Given the description of an element on the screen output the (x, y) to click on. 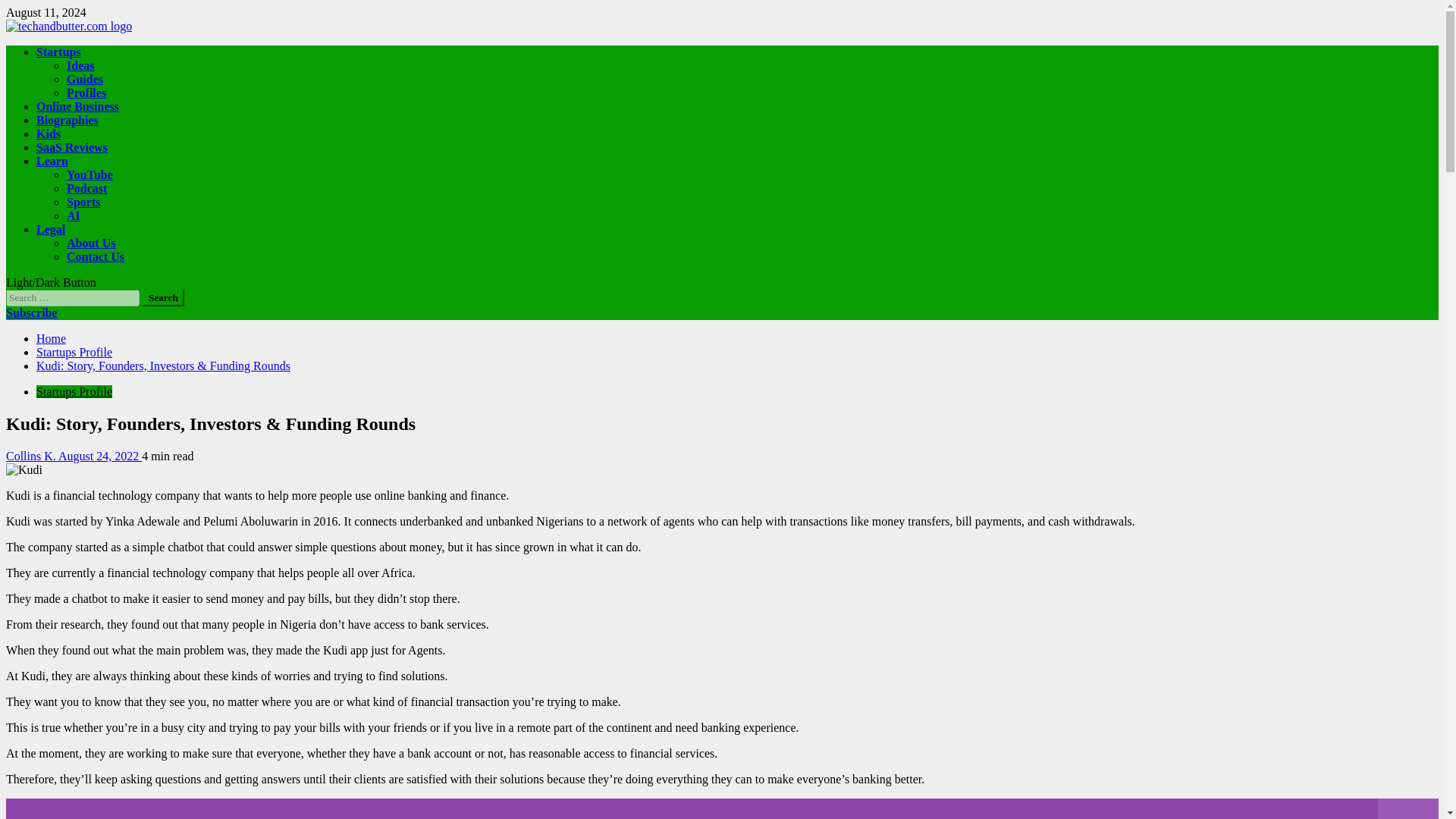
Biographies (67, 119)
Guides (84, 78)
Startups Profile (74, 391)
Home (50, 338)
Learn (52, 160)
August 24, 2022 (99, 455)
AI (73, 215)
Startups (58, 51)
Search (163, 297)
